Given the description of an element on the screen output the (x, y) to click on. 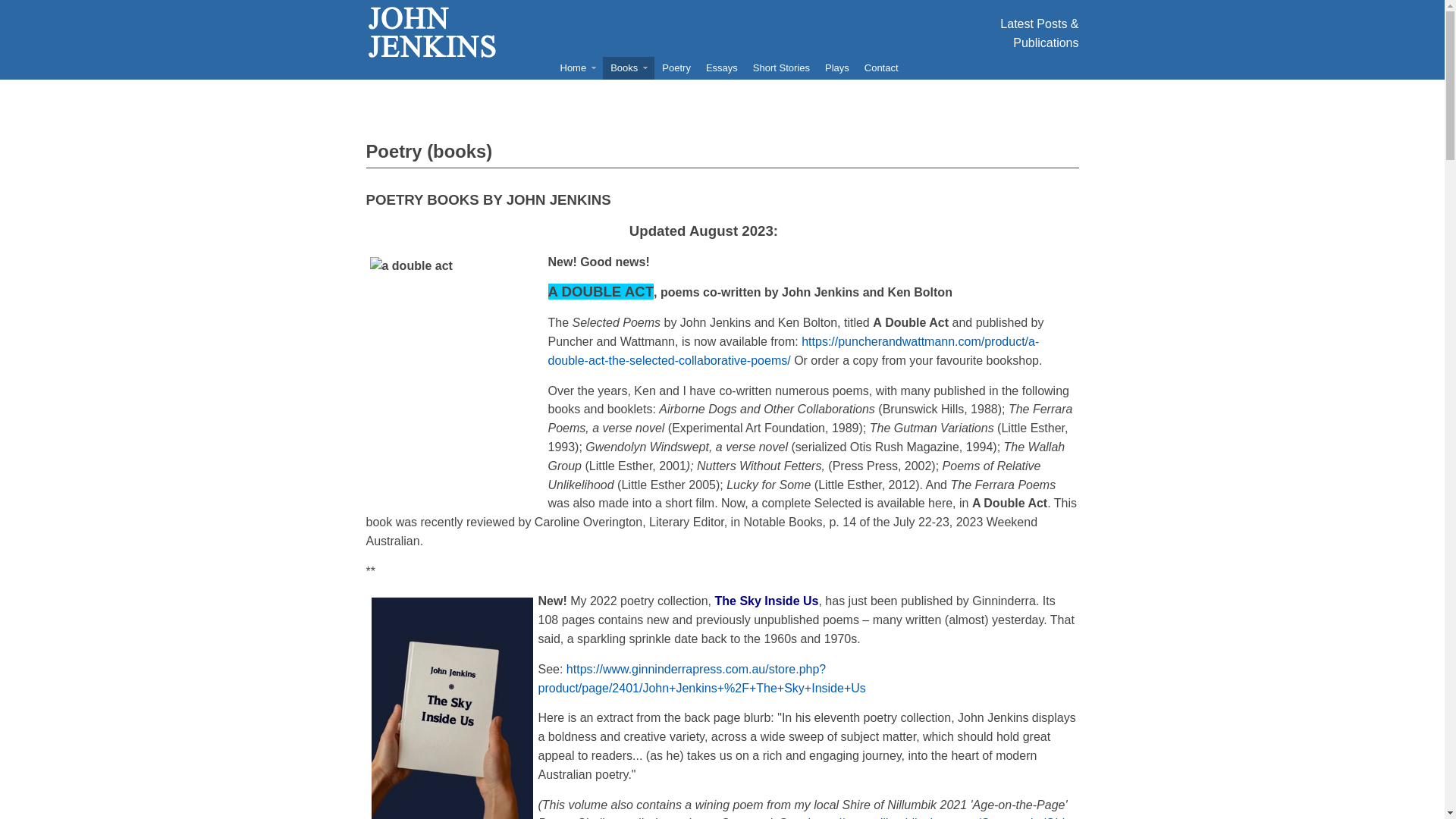
Poetry Element type: text (676, 67)
Short Stories Element type: text (781, 67)
Books Element type: text (628, 67)
Essays Element type: text (721, 67)
Plays Element type: text (836, 67)
Latest Posts & Publications Element type: text (1039, 33)
Home Element type: text (577, 67)
Contact Element type: text (881, 67)
